Given the description of an element on the screen output the (x, y) to click on. 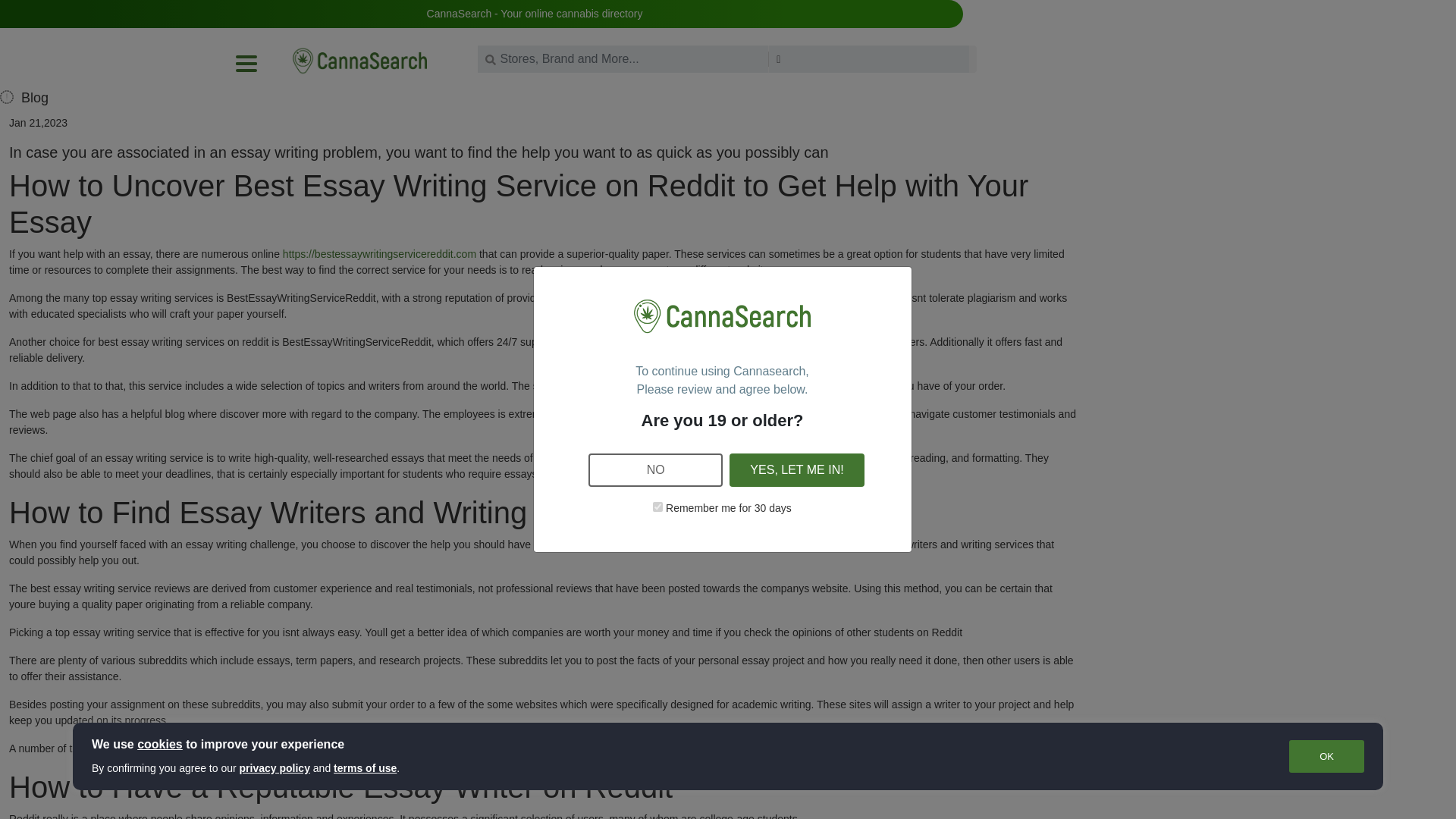
YES, LET ME IN! (796, 469)
terms of use (364, 767)
OK (1326, 756)
on (657, 506)
NO (655, 469)
CannaSearch - Your online cannabis directory (534, 13)
privacy policy (275, 767)
cookies (159, 744)
